Given the description of an element on the screen output the (x, y) to click on. 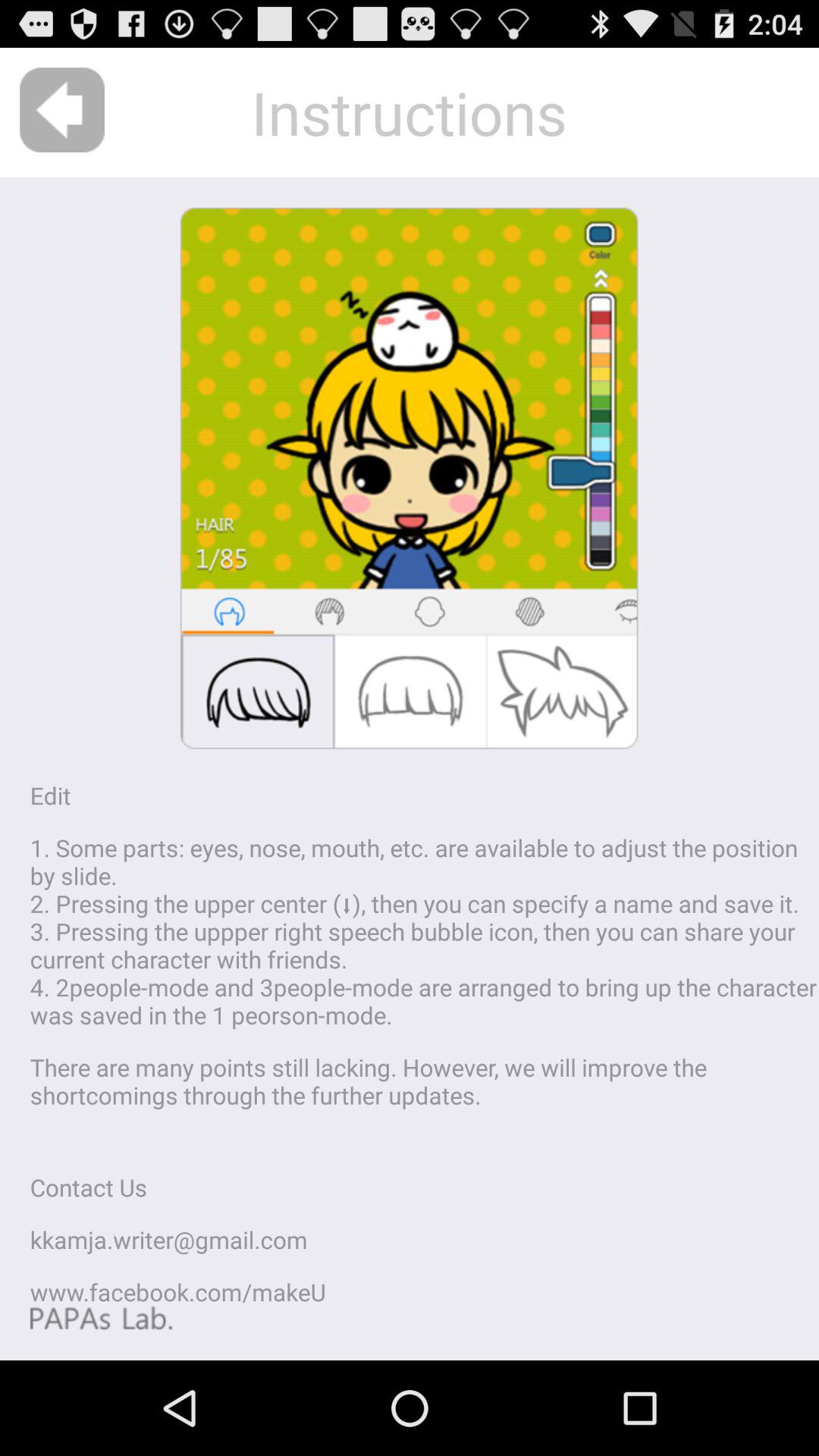
go back (61, 109)
